Given the description of an element on the screen output the (x, y) to click on. 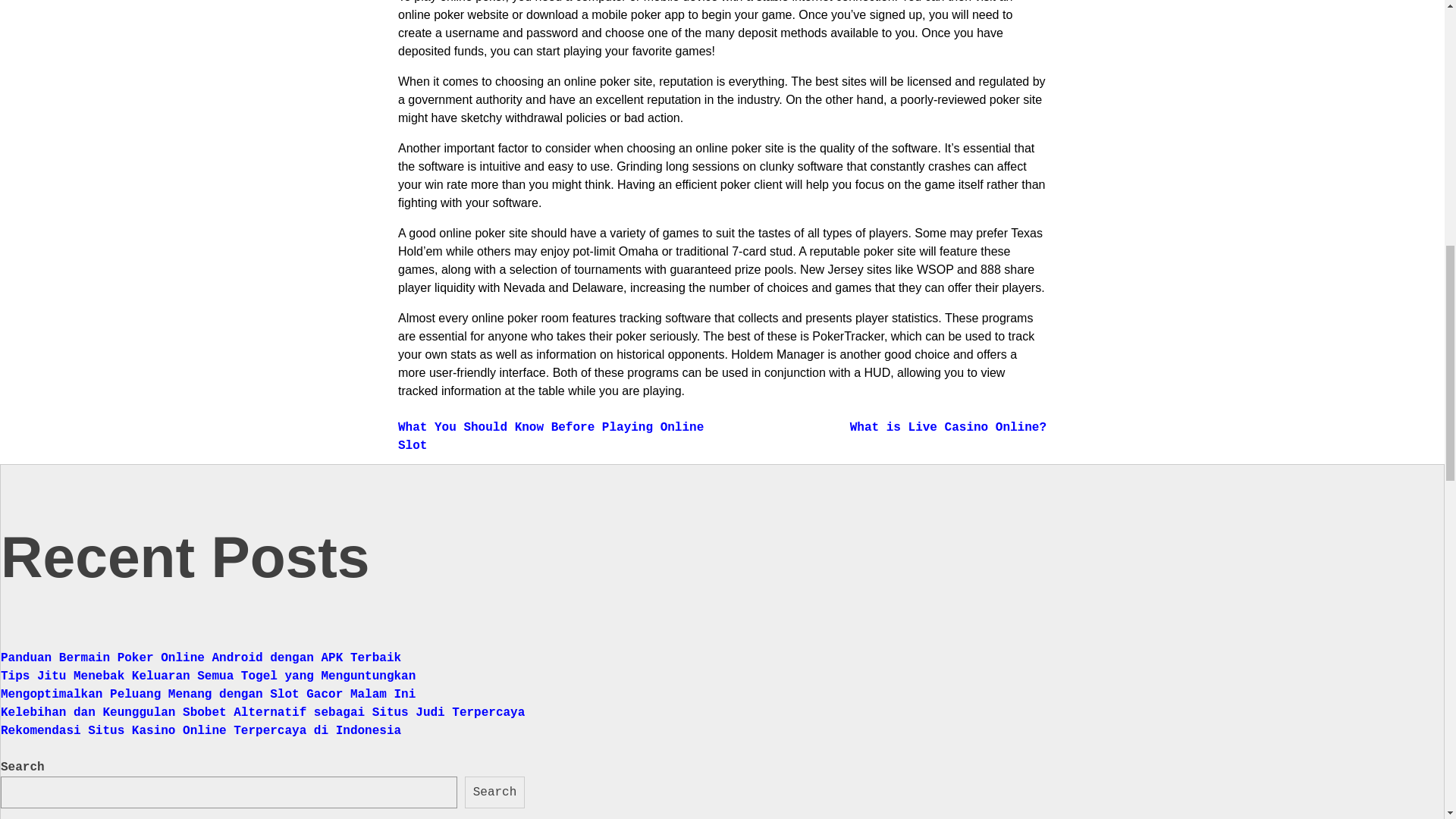
Panduan Bermain Poker Online Android dengan APK Terbaik (201, 657)
Search (494, 792)
What is Live Casino Online? (948, 427)
What You Should Know Before Playing Online Slot (550, 436)
Rekomendasi Situs Kasino Online Terpercaya di Indonesia (201, 730)
Mengoptimalkan Peluang Menang dengan Slot Gacor Malam Ini (207, 694)
Tips Jitu Menebak Keluaran Semua Togel yang Menguntungkan (207, 675)
